Given the description of an element on the screen output the (x, y) to click on. 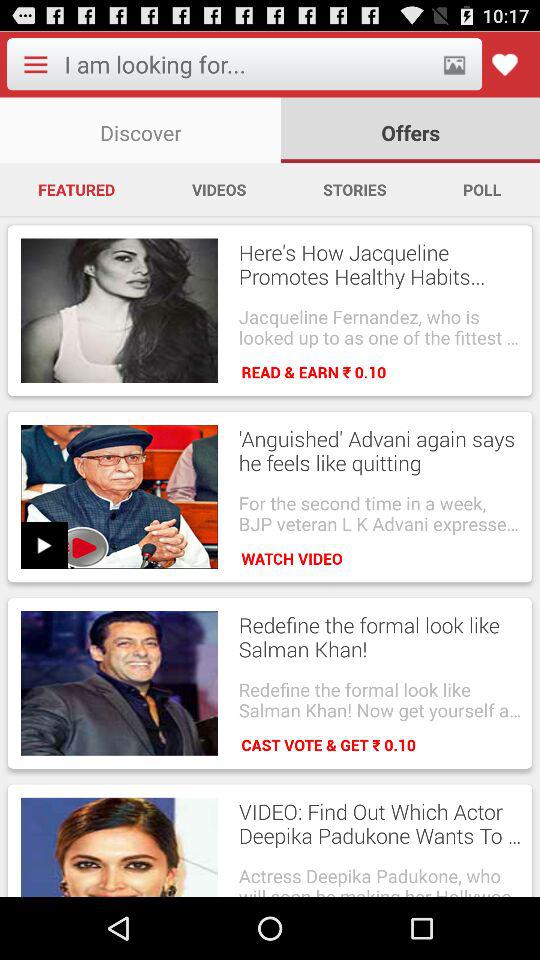
scroll until offers item (410, 130)
